Given the description of an element on the screen output the (x, y) to click on. 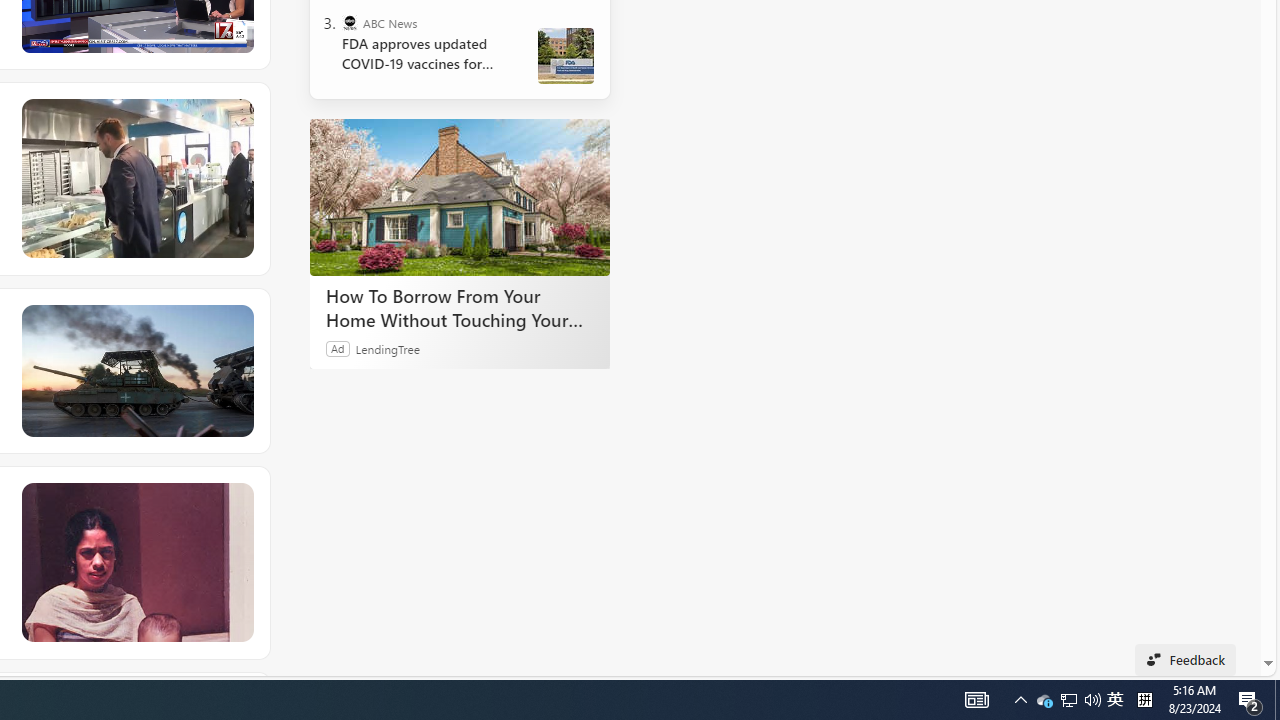
ABC News (349, 22)
JD Vance struggles to make small talk while ordering donuts (136, 179)
LendingTree (387, 348)
